Given the description of an element on the screen output the (x, y) to click on. 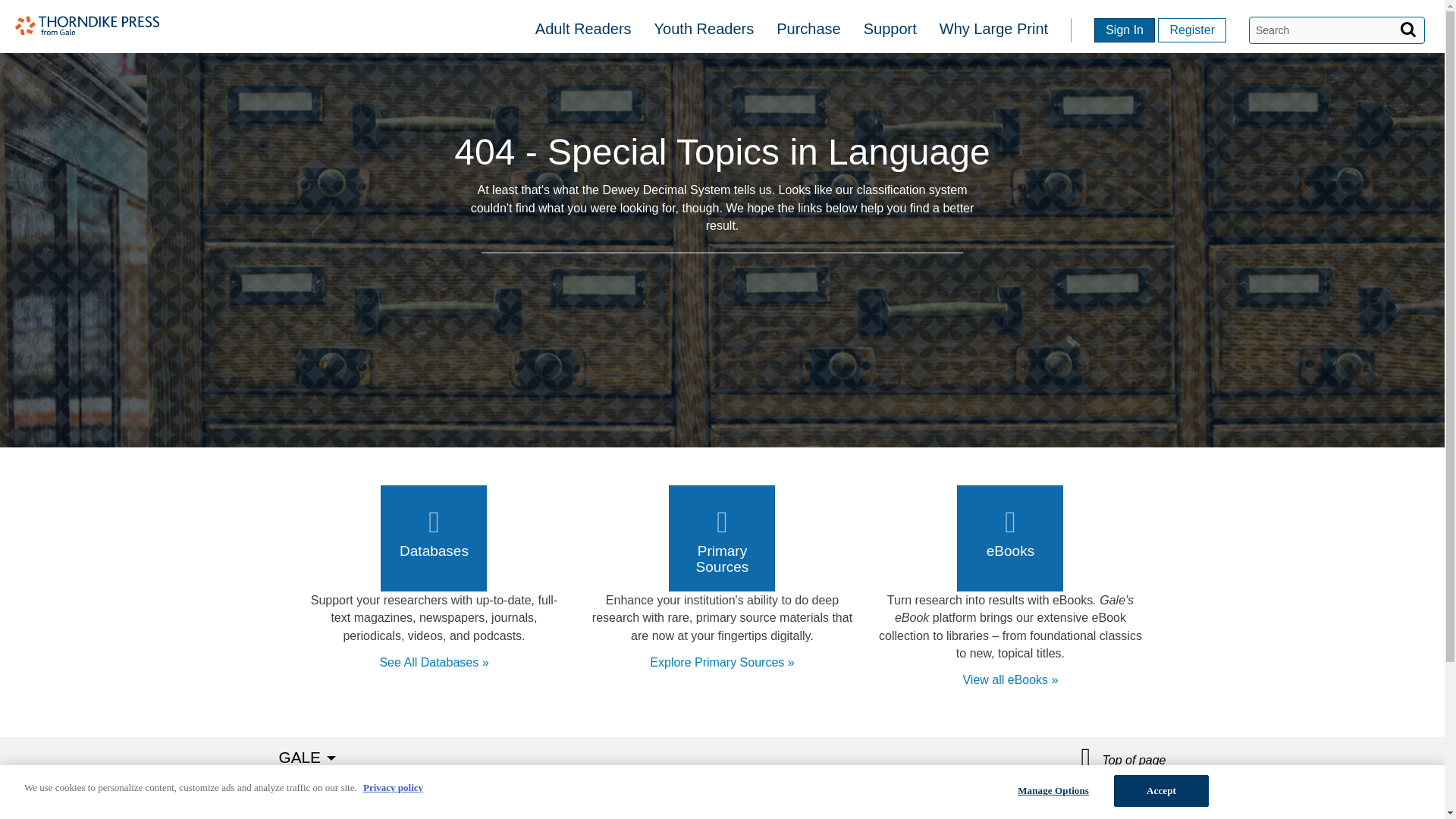
Top of page (1123, 758)
Top of page (1123, 758)
